Given the description of an element on the screen output the (x, y) to click on. 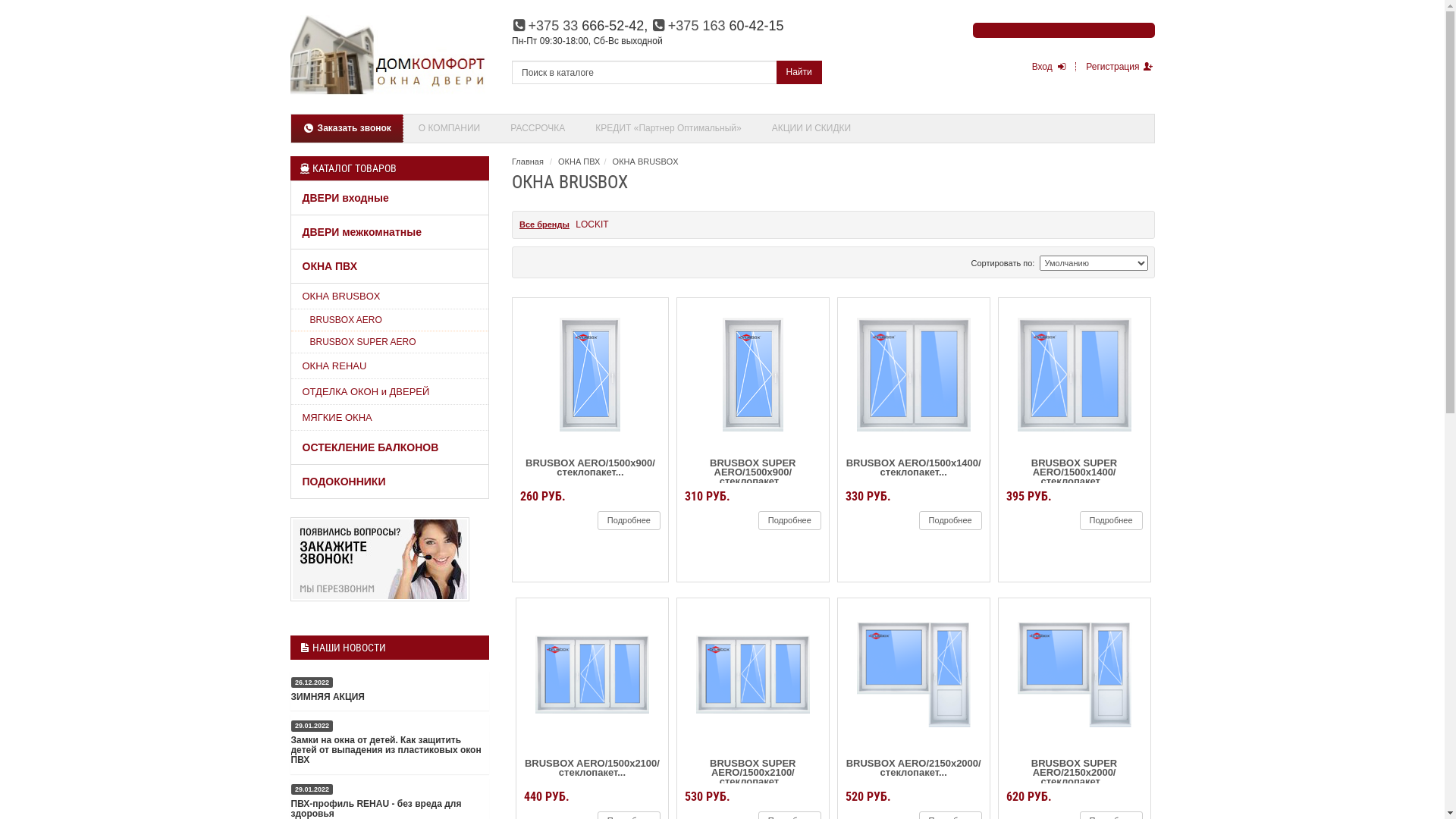
LOCKIT Element type: text (591, 224)
BRUSBOX SUPER AERO Element type: text (390, 342)
BRUSBOX AERO Element type: text (390, 320)
